Given the description of an element on the screen output the (x, y) to click on. 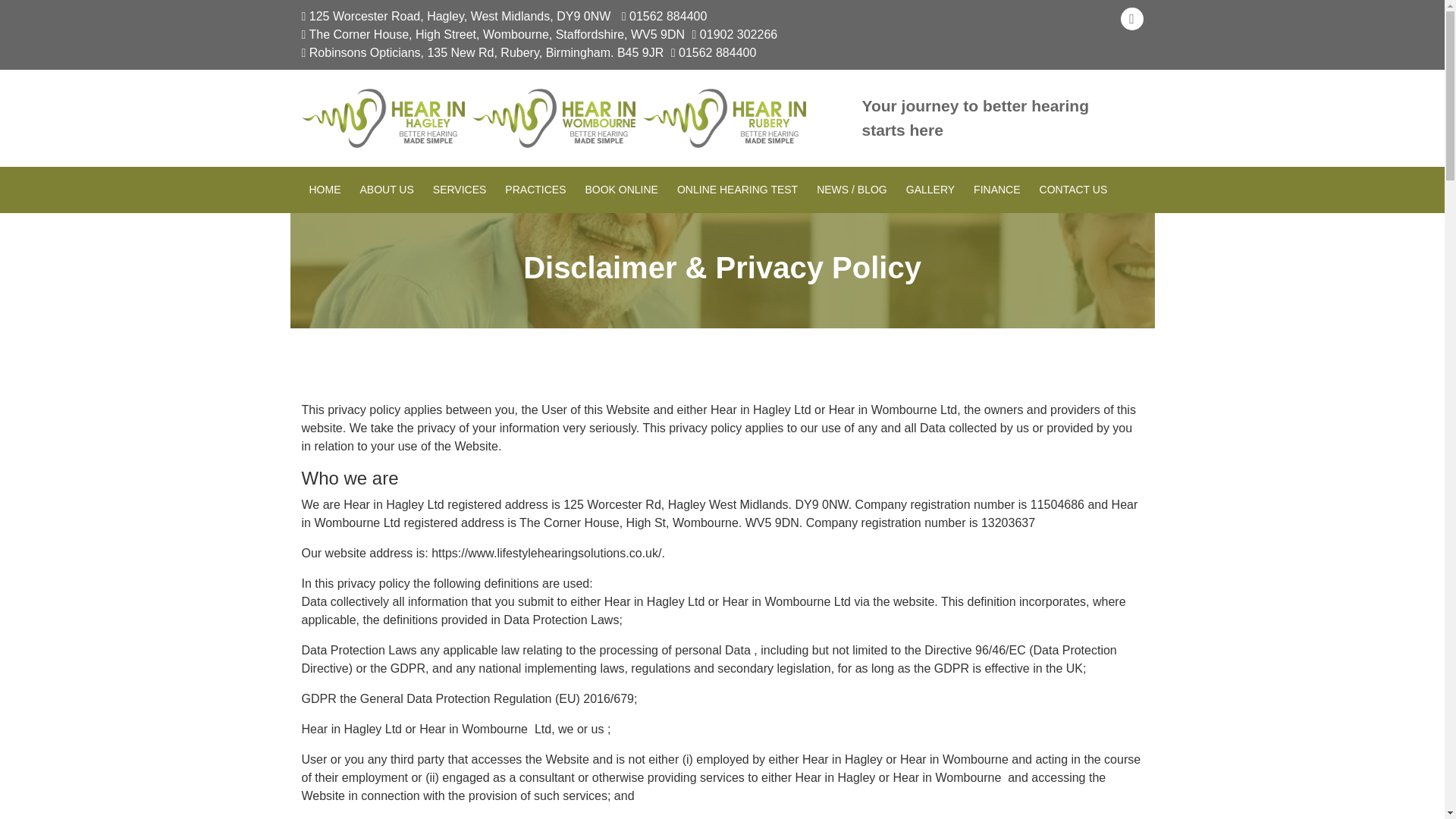
HOME (325, 189)
ABOUT US (386, 189)
BOOK ONLINE (620, 189)
FINANCE (996, 189)
PRACTICES (535, 189)
CONTACT US (1073, 189)
ONLINE HEARING TEST (737, 189)
SERVICES (460, 189)
GALLERY (930, 189)
